Given the description of an element on the screen output the (x, y) to click on. 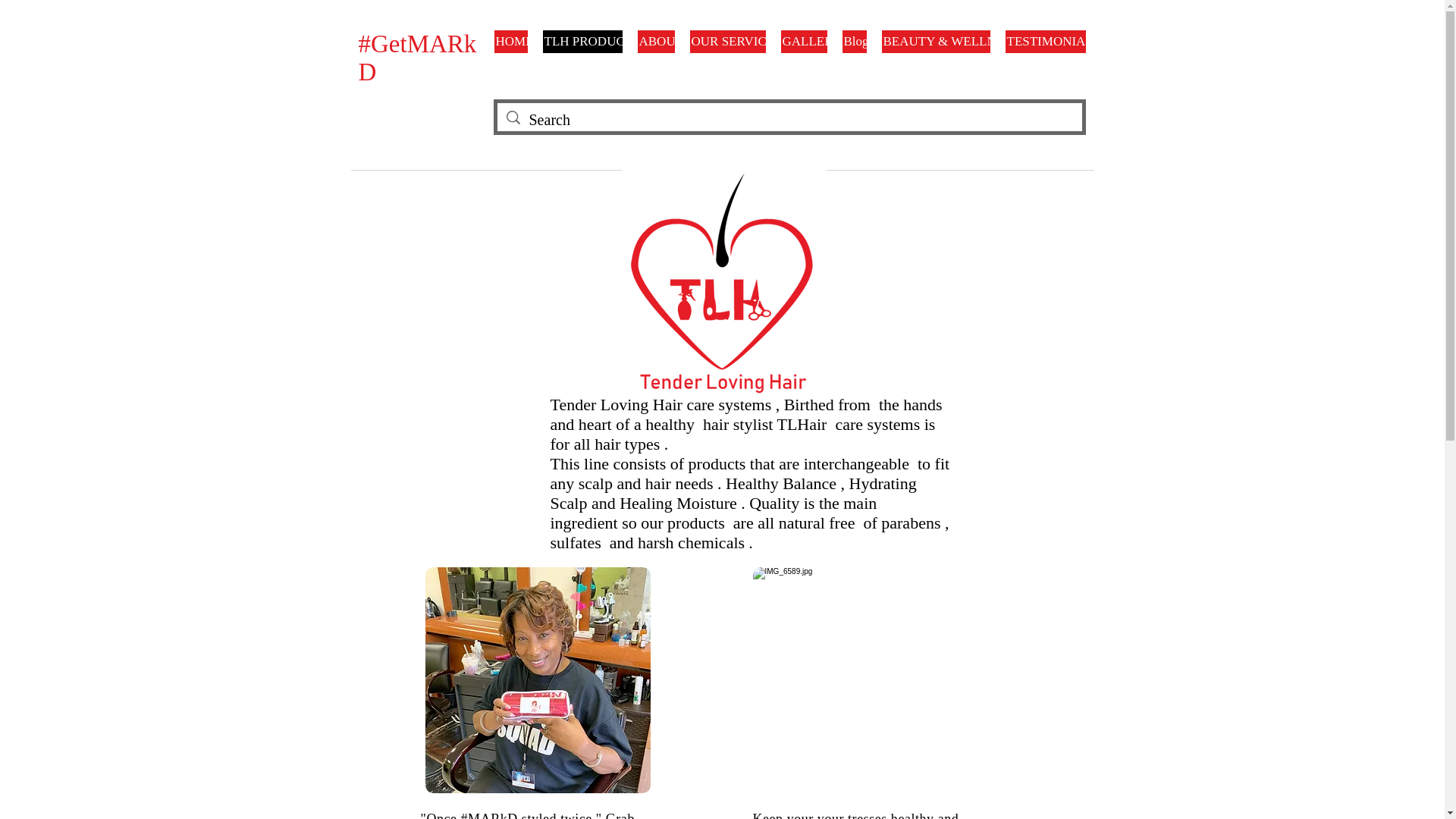
TLH PRODUCTS (583, 41)
TESTIMONIALS (1046, 41)
GALLERY (803, 41)
HOME (511, 41)
ABOUT (655, 41)
OUR SERVICES (727, 41)
Blog (853, 41)
